Given the description of an element on the screen output the (x, y) to click on. 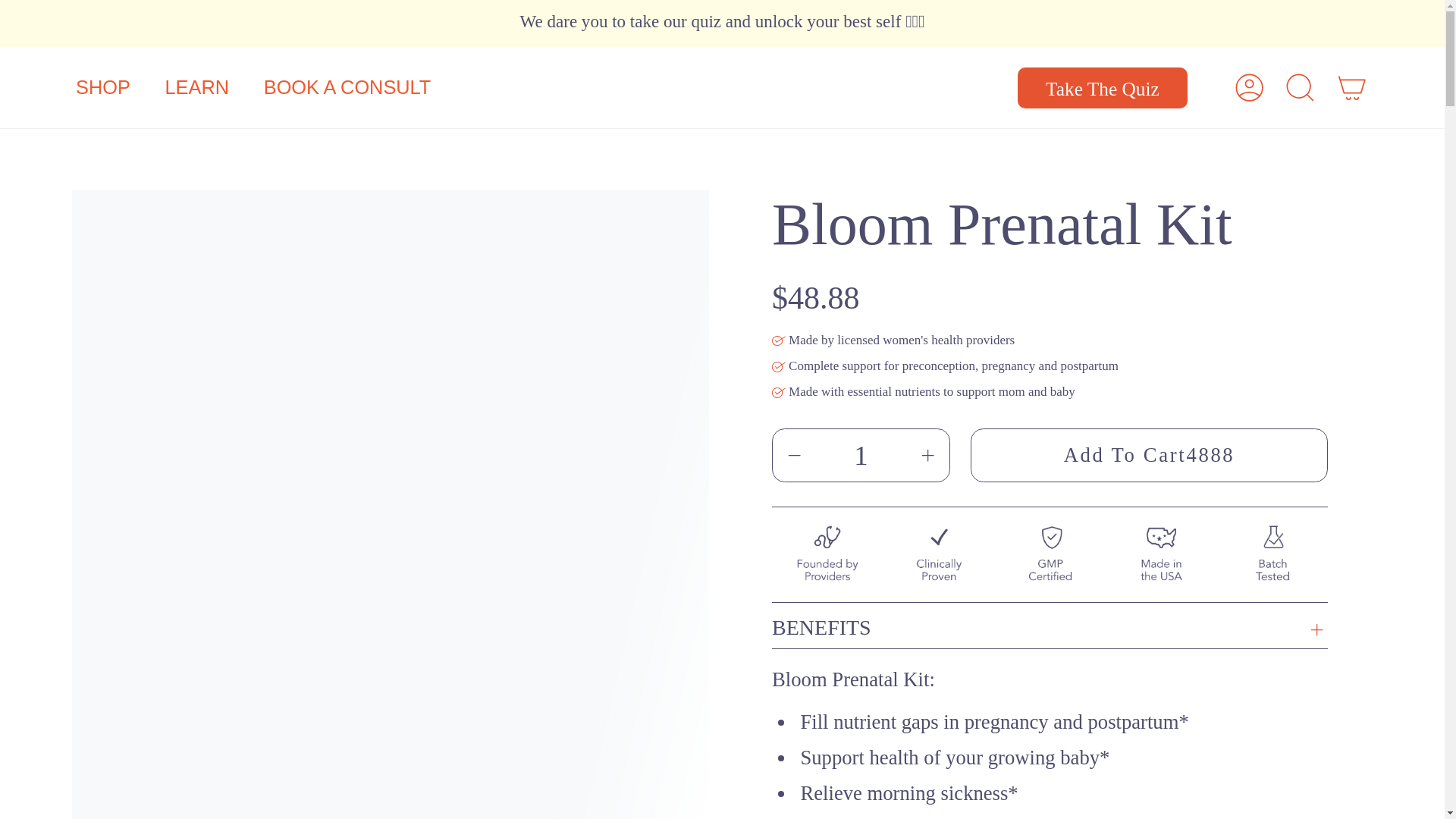
1 (860, 455)
Quantity field - Bloom Prenatal Kit (860, 455)
SHOP (101, 86)
Increase button quantity - Bloom Prenatal Kit (914, 455)
LEARN (195, 86)
Decrease button quantity - Bloom Prenatal Kit (807, 455)
